Given the description of an element on the screen output the (x, y) to click on. 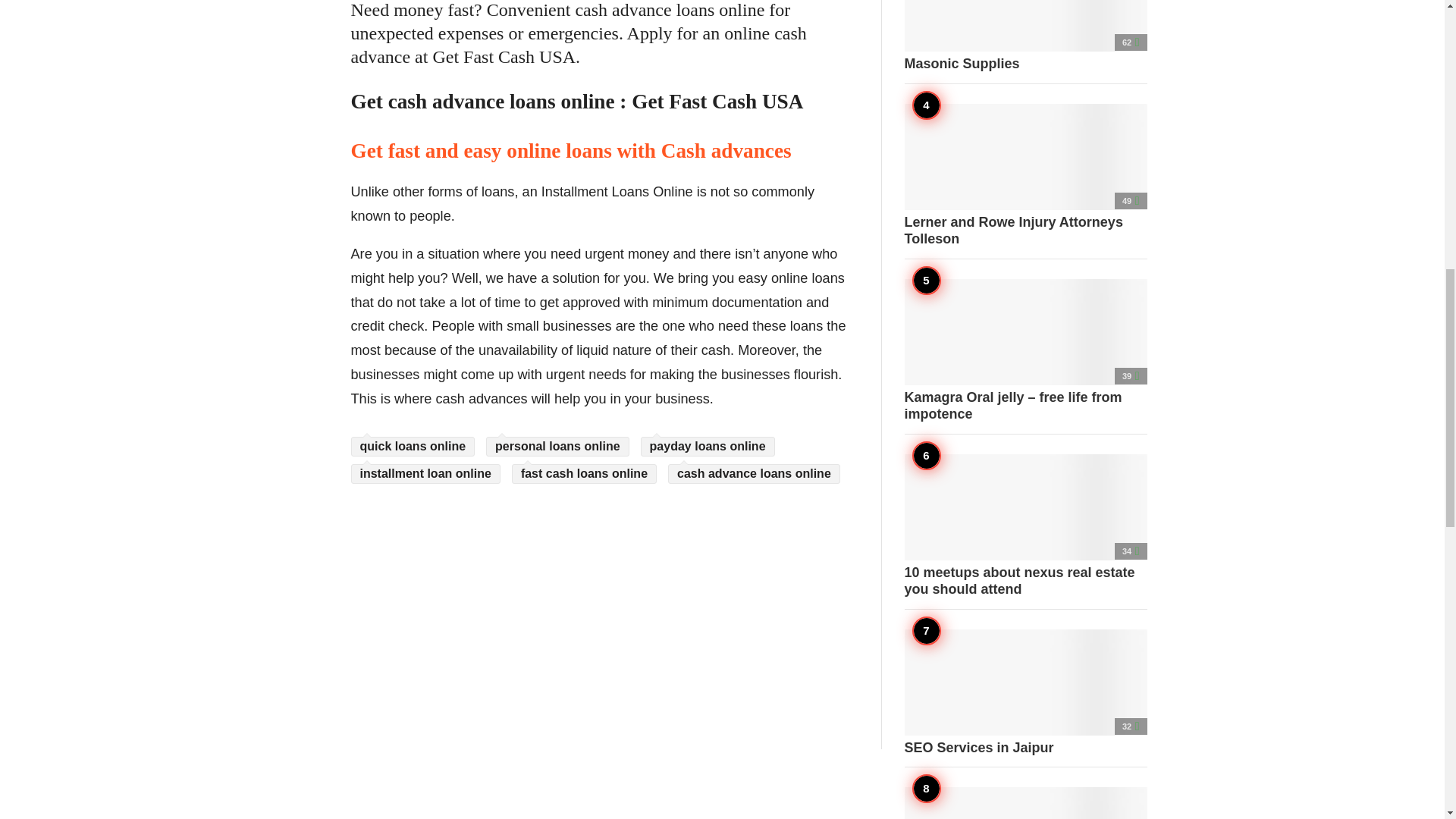
Masonic Supplies (1025, 36)
Mass Spectrometry Market Size By Platform, By Application (1025, 803)
SEO Services in Jaipur (1025, 692)
10 meetups about nexus real estate you should attend (1025, 525)
Lerner and Rowe Injury Attorneys Tolleson (1025, 175)
